Given the description of an element on the screen output the (x, y) to click on. 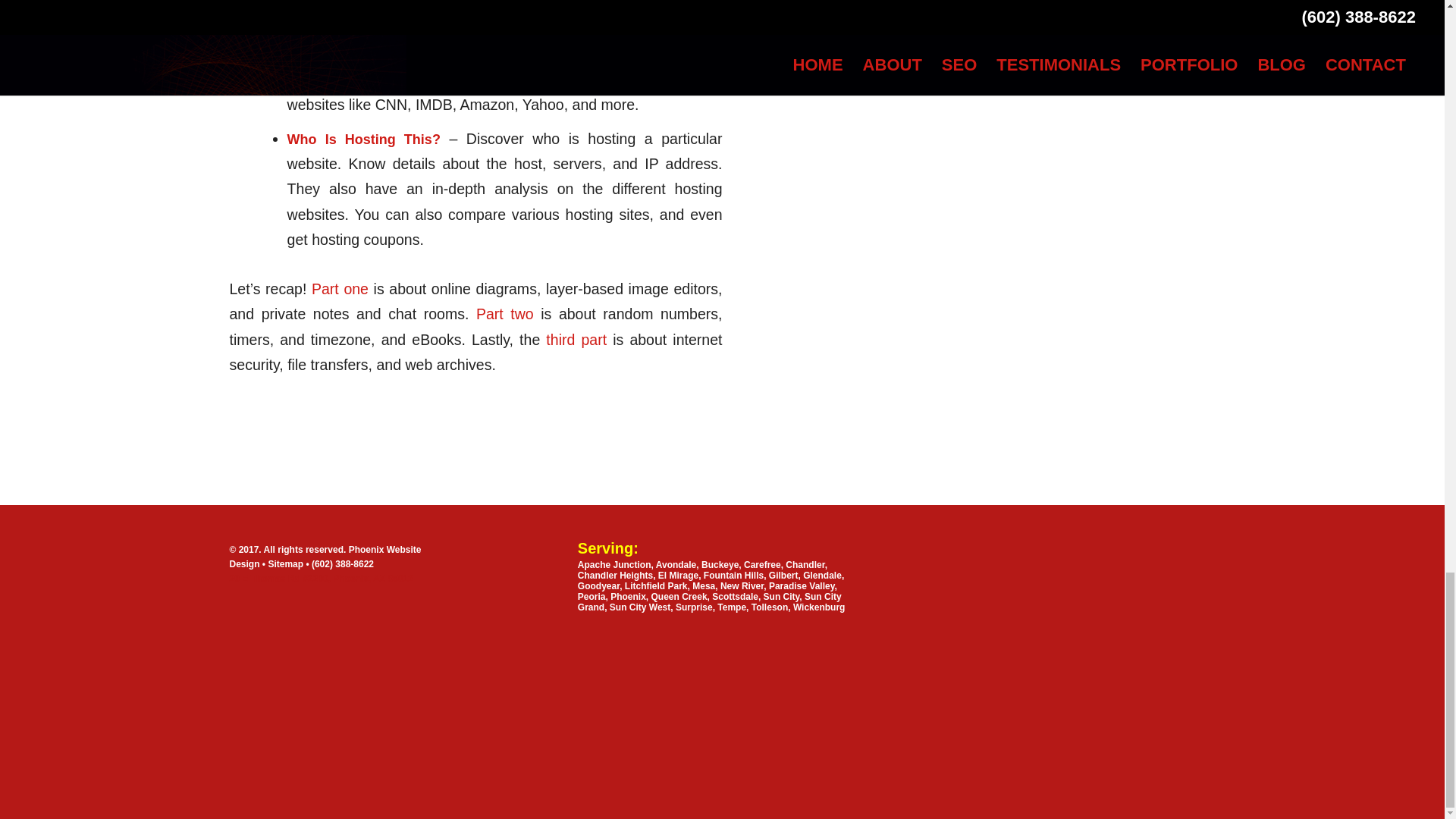
Sitemap  (286, 563)
Part two (508, 313)
Part one (339, 288)
third part (576, 339)
Phoenix Website Design (324, 556)
Archive.Org (325, 6)
Phoenix Web Design (312, 600)
Archive.is (639, 6)
Who Is Hosting This? (363, 139)
